Given the description of an element on the screen output the (x, y) to click on. 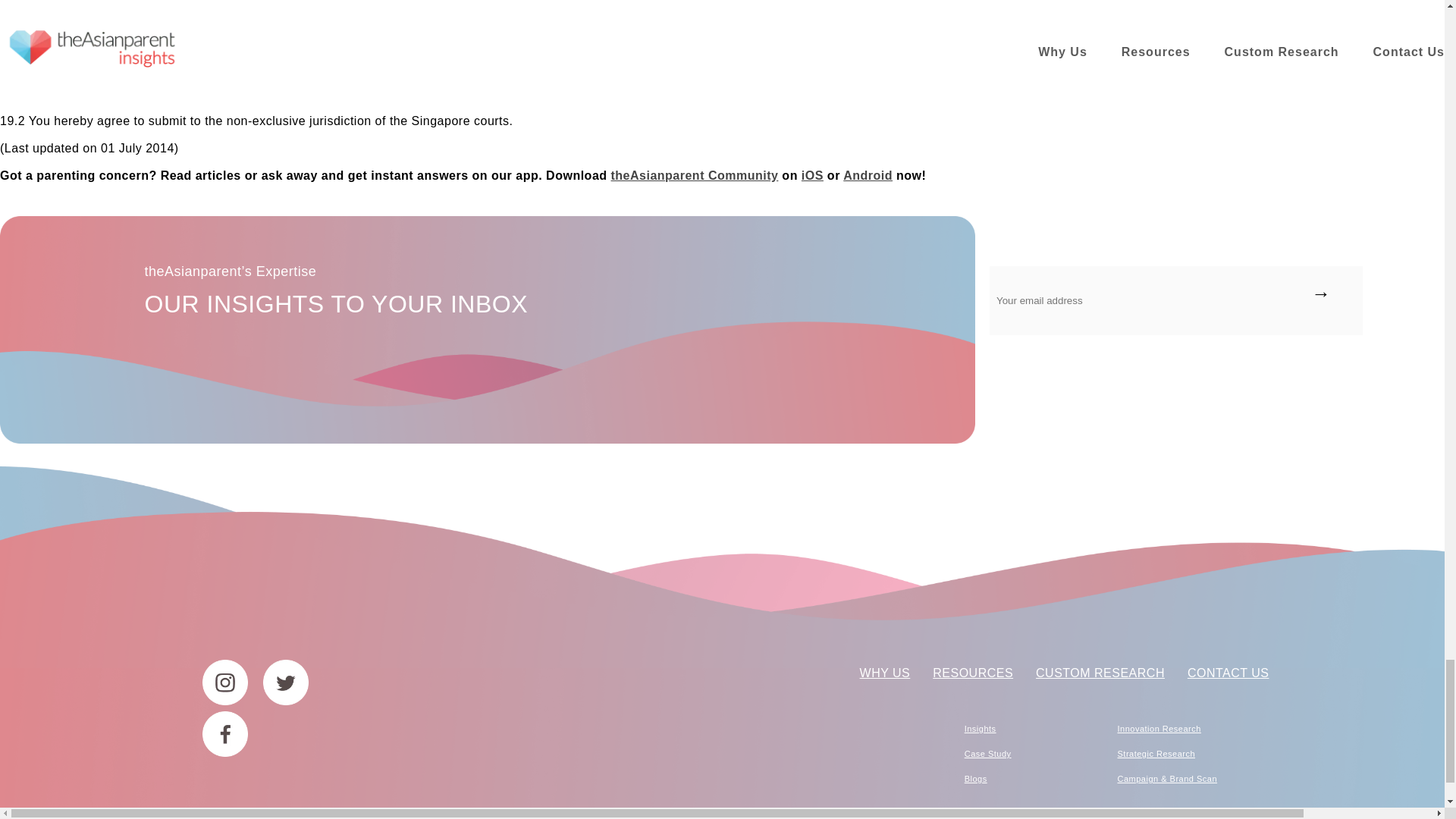
Android (867, 174)
theAsianparent Community (694, 174)
Case Study (987, 753)
CONTACT US (1228, 672)
Innovation Research (1157, 728)
theAsianparent Community (813, 174)
iOS (813, 174)
Blogs (975, 777)
theAsianparent Community (694, 174)
theAsianparent Community (867, 174)
WHY US (885, 672)
Insights (979, 728)
